Given the description of an element on the screen output the (x, y) to click on. 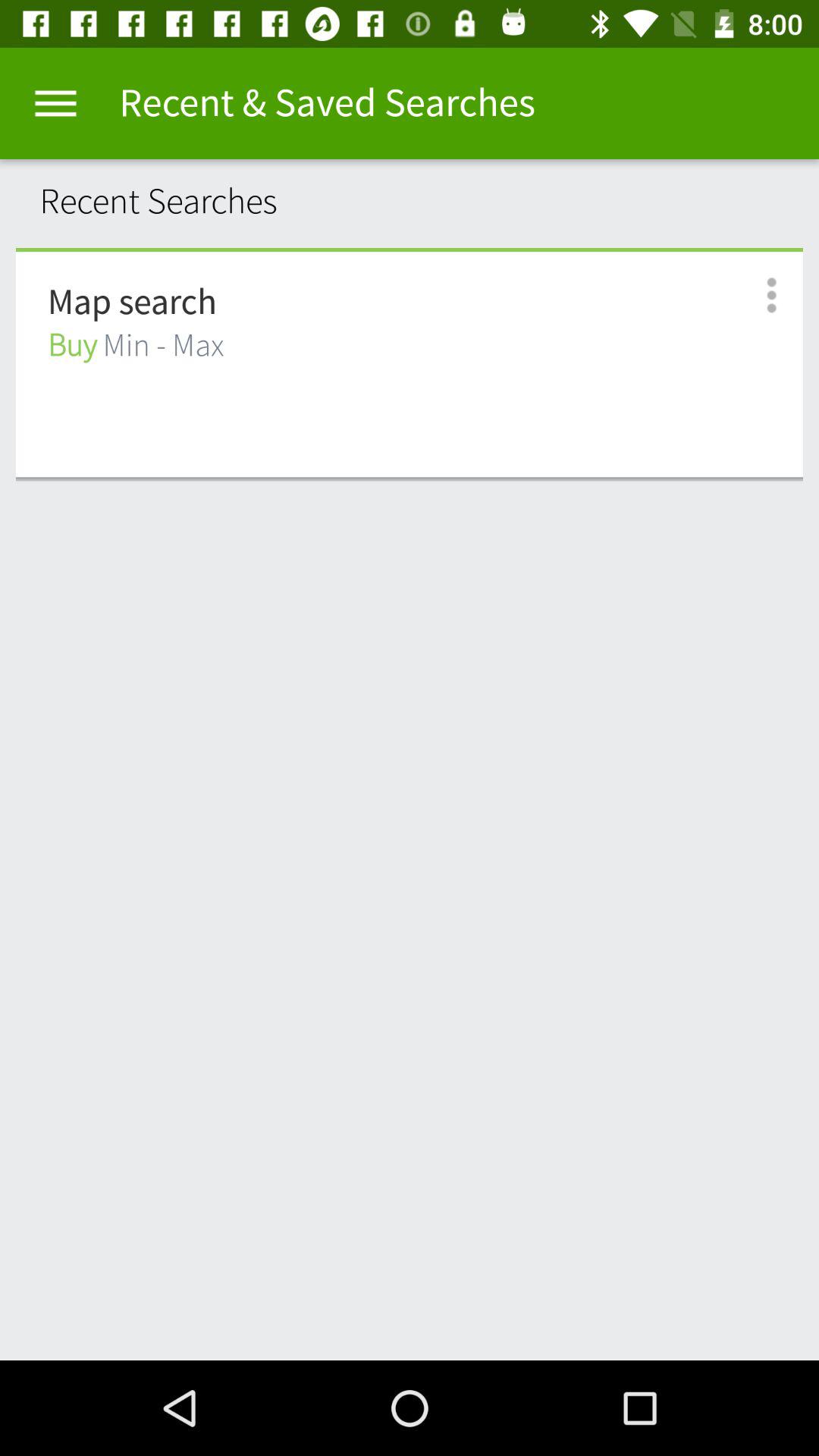
menu toggle (55, 103)
